Given the description of an element on the screen output the (x, y) to click on. 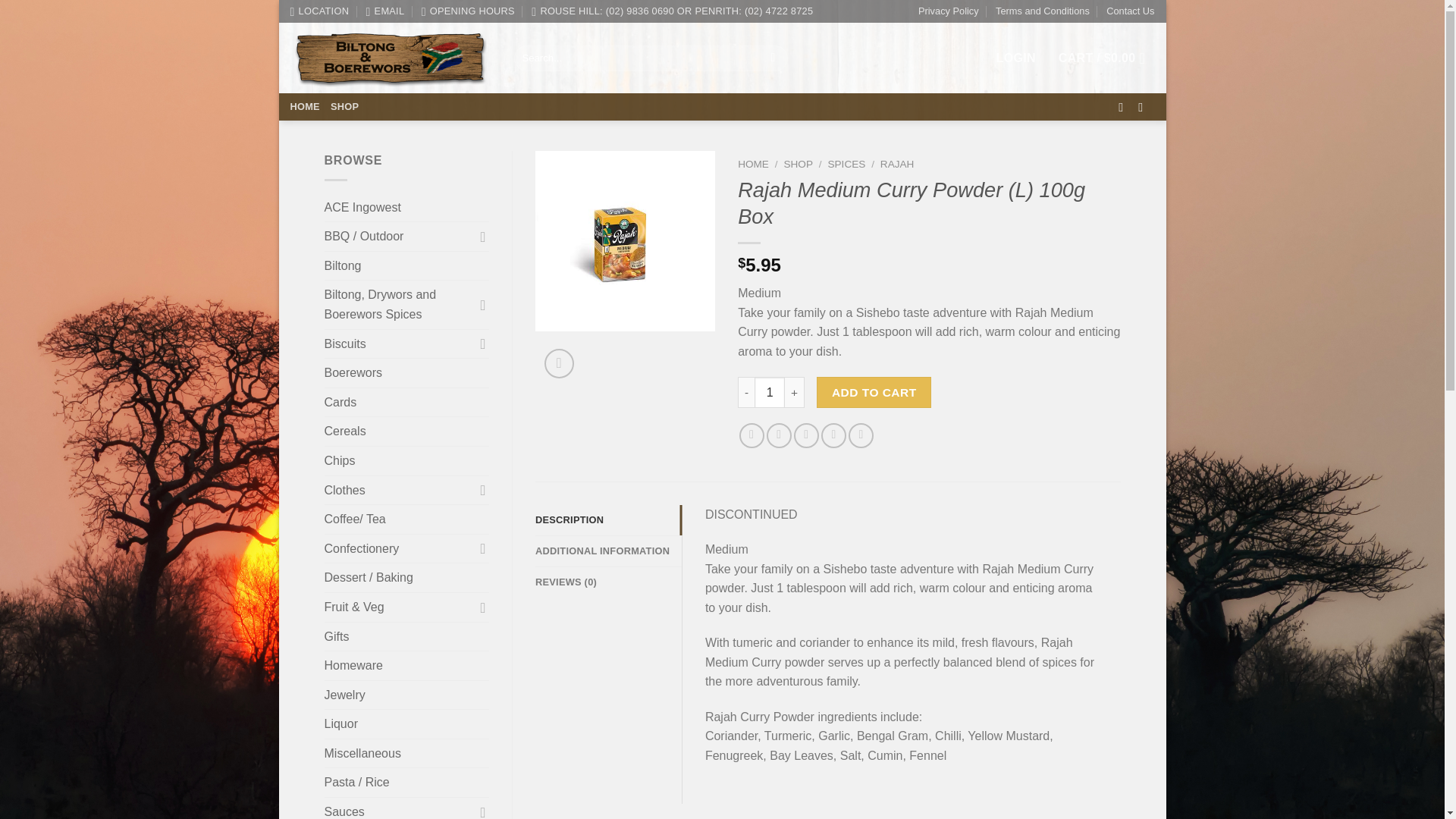
Boerewors (406, 372)
Zoom (558, 363)
HOME (303, 106)
LOCATION (319, 11)
Search (773, 58)
ACE Ingowest (406, 207)
Cards (406, 402)
OPENING HOURS (468, 11)
Biltong (406, 265)
Biltong, Drywors and Boerewors Spices (399, 304)
EMAIL (384, 11)
1 (769, 391)
Biscuits (399, 344)
